Given the description of an element on the screen output the (x, y) to click on. 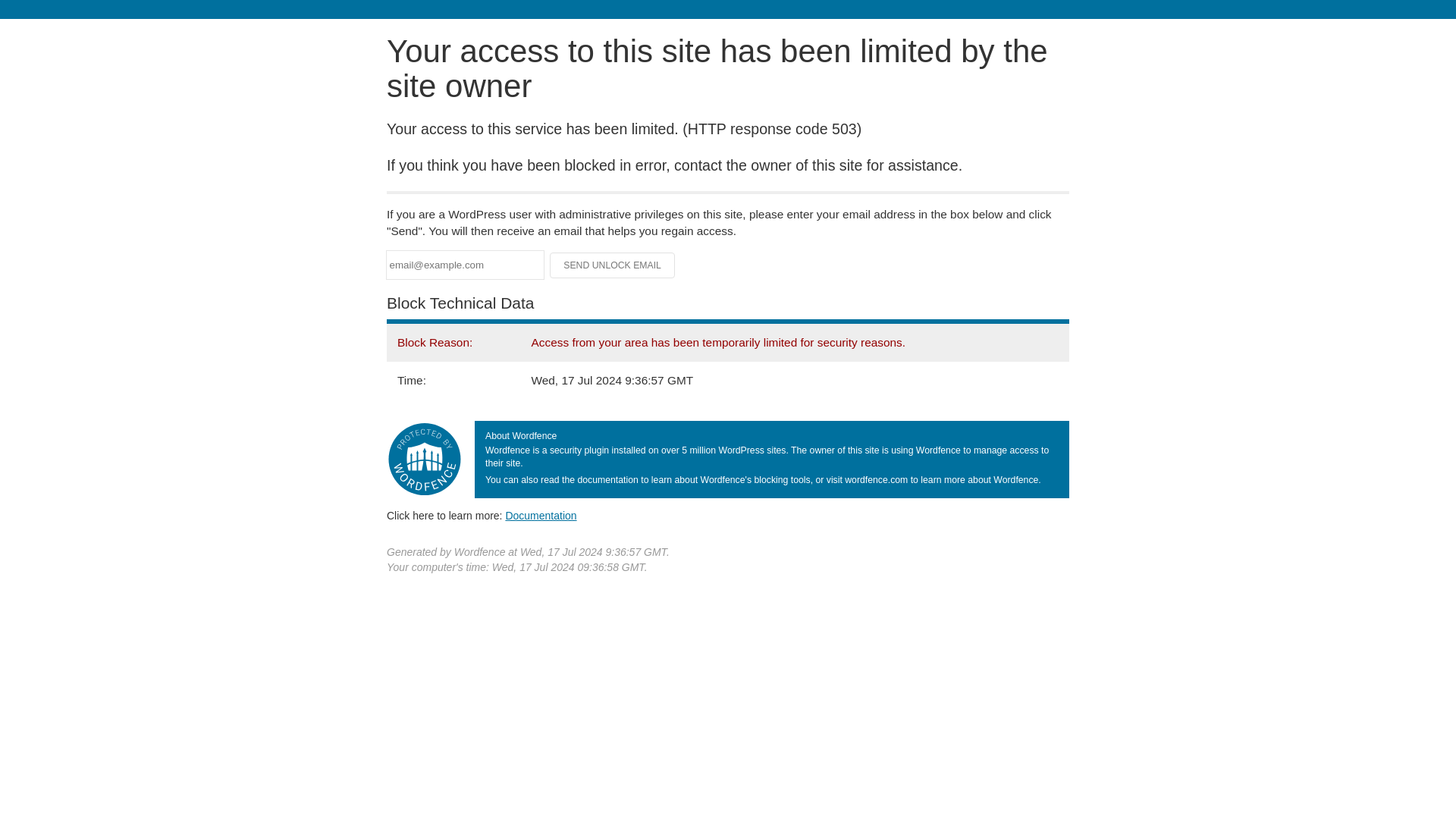
Documentation (540, 515)
Send Unlock Email (612, 265)
Send Unlock Email (612, 265)
